Given the description of an element on the screen output the (x, y) to click on. 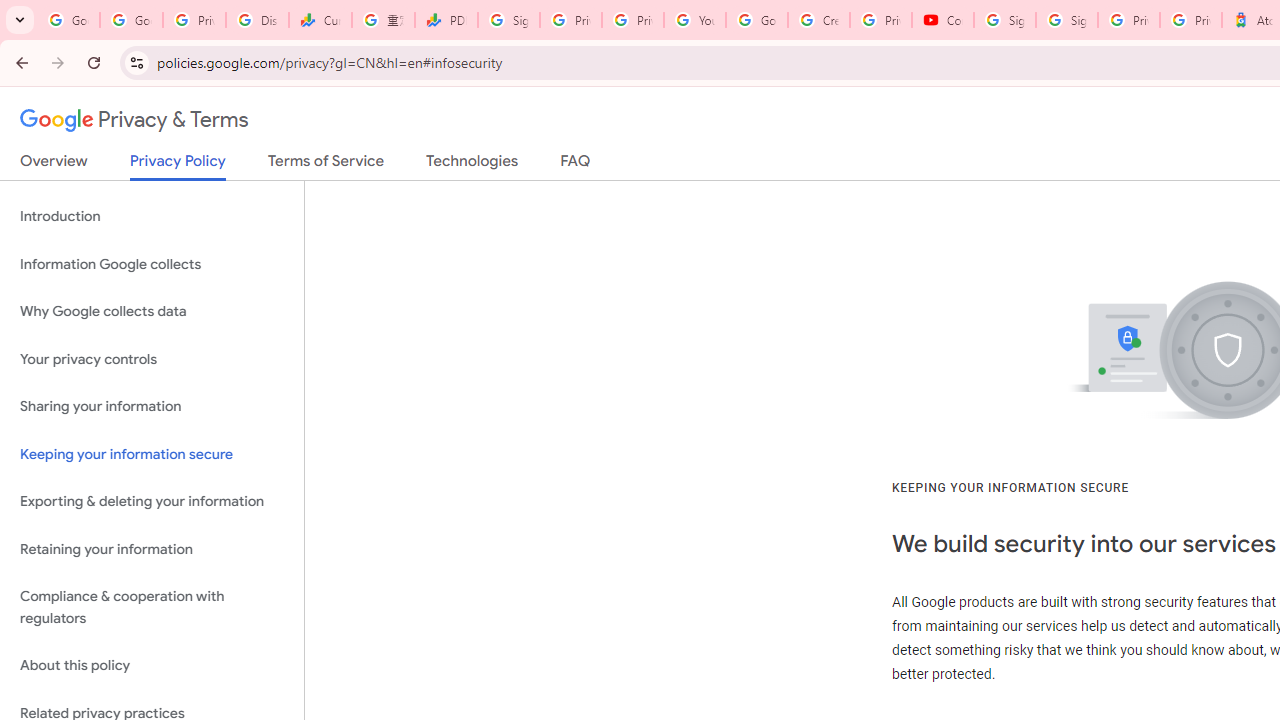
Your privacy controls (152, 358)
PDD Holdings Inc - ADR (PDD) Price & News - Google Finance (445, 20)
Create your Google Account (818, 20)
Sign in - Google Accounts (508, 20)
